Given the description of an element on the screen output the (x, y) to click on. 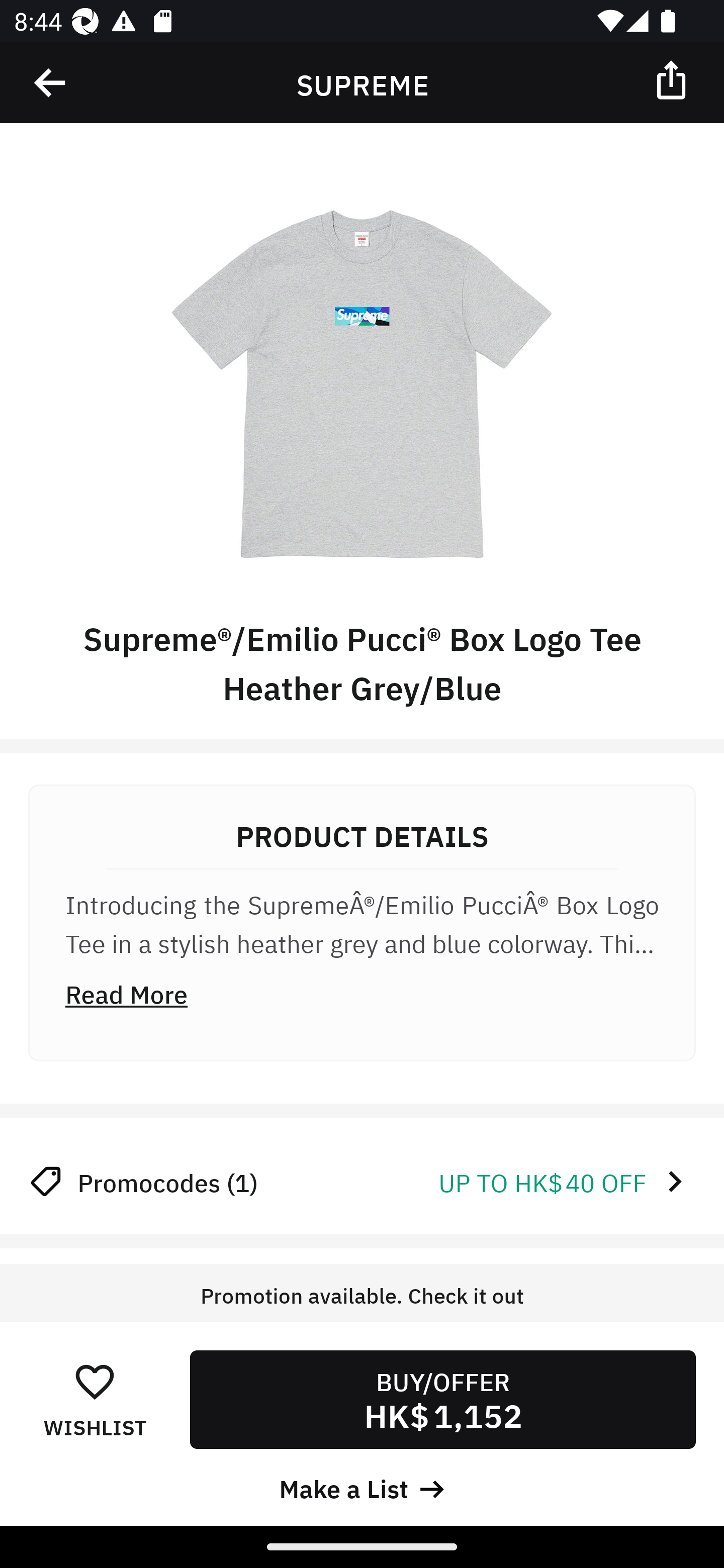
 (50, 83)
 (672, 79)
Promocodes (1) UP TO HK$ 40 OFF  (361, 1181)
BUY/OFFER HK$ 1,152 (442, 1399)
󰋕 (94, 1380)
Make a List (361, 1486)
